Given the description of an element on the screen output the (x, y) to click on. 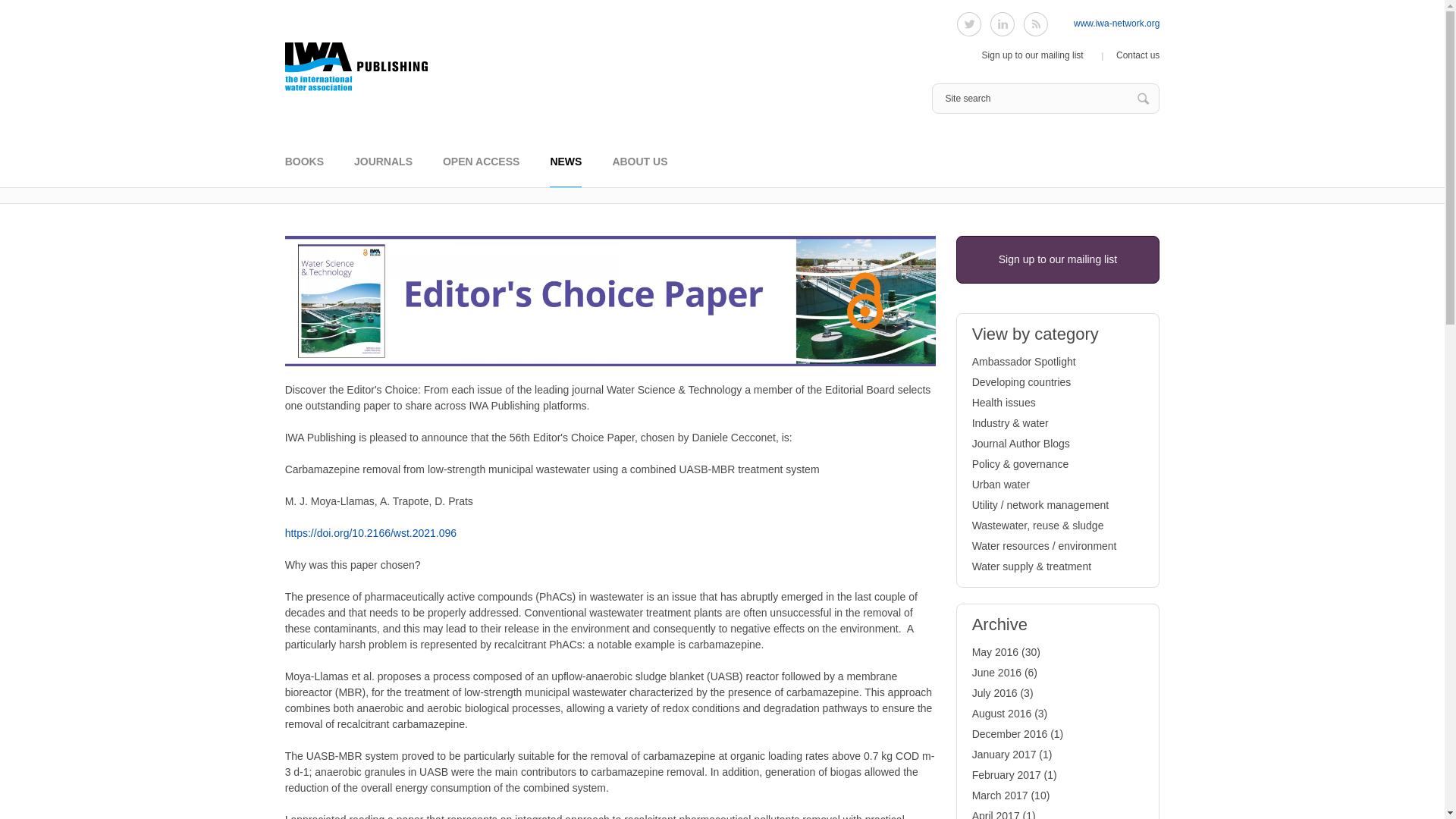
Visit www.iwa-network.org (1116, 23)
LinkedIn (1002, 23)
Twitter (968, 23)
BOOKS (304, 170)
Enter the terms you wish to search for. (1044, 98)
NEWS (565, 170)
Follow us on Twitter (968, 23)
RSS (1035, 23)
Subscribe to our RSS feeds (1035, 23)
Search (1143, 98)
ABOUT US (638, 170)
Join our LinkedIn newtwork (1002, 23)
Contact us (1137, 55)
Search (1143, 98)
www.iwa-network.org (1116, 23)
